Given the description of an element on the screen output the (x, y) to click on. 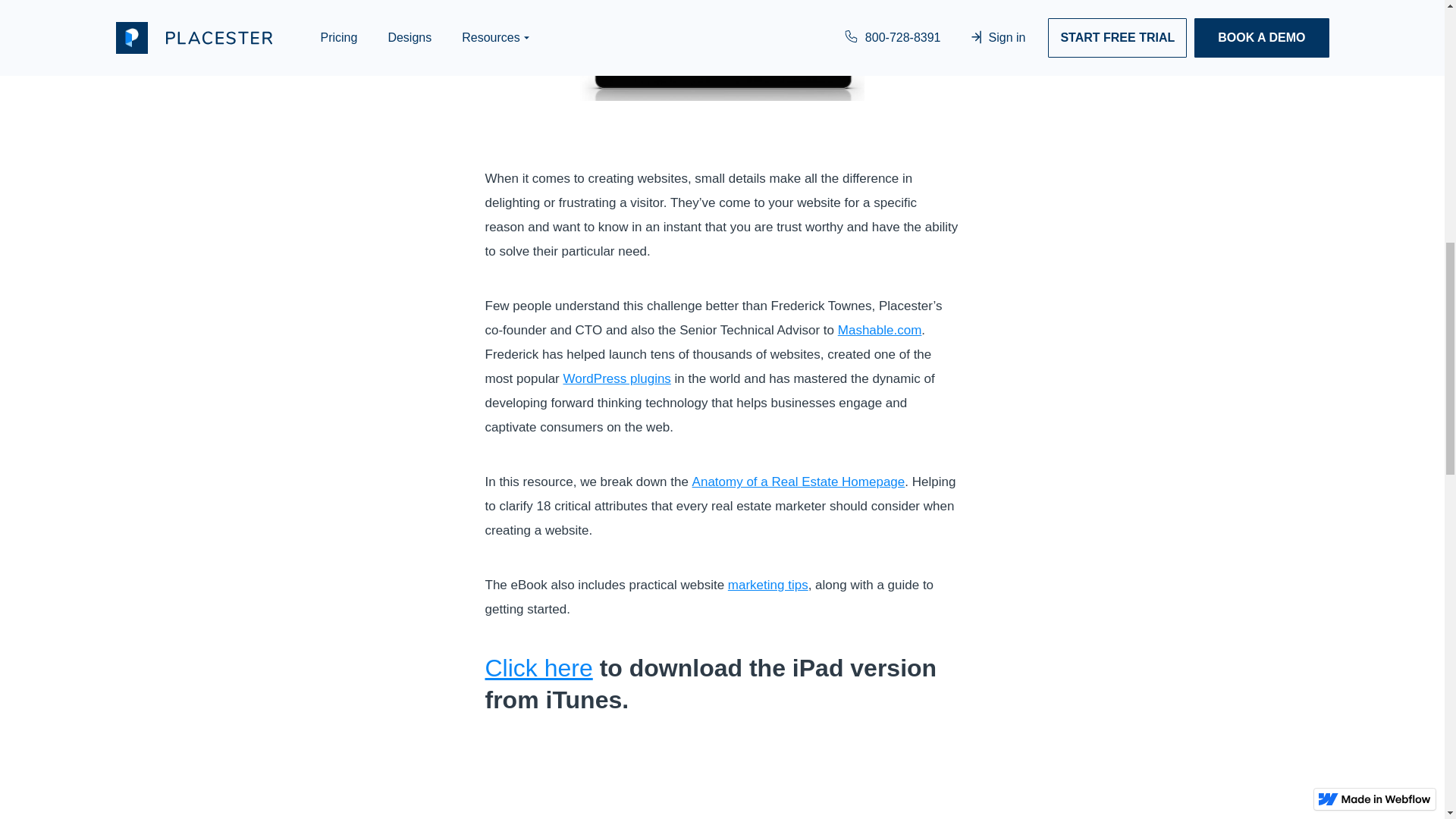
Click here (538, 667)
WordPress plugins (615, 378)
marketing tips (768, 585)
Anatomy of a Real Estate Homepage (799, 481)
Mashable.com (879, 329)
